Given the description of an element on the screen output the (x, y) to click on. 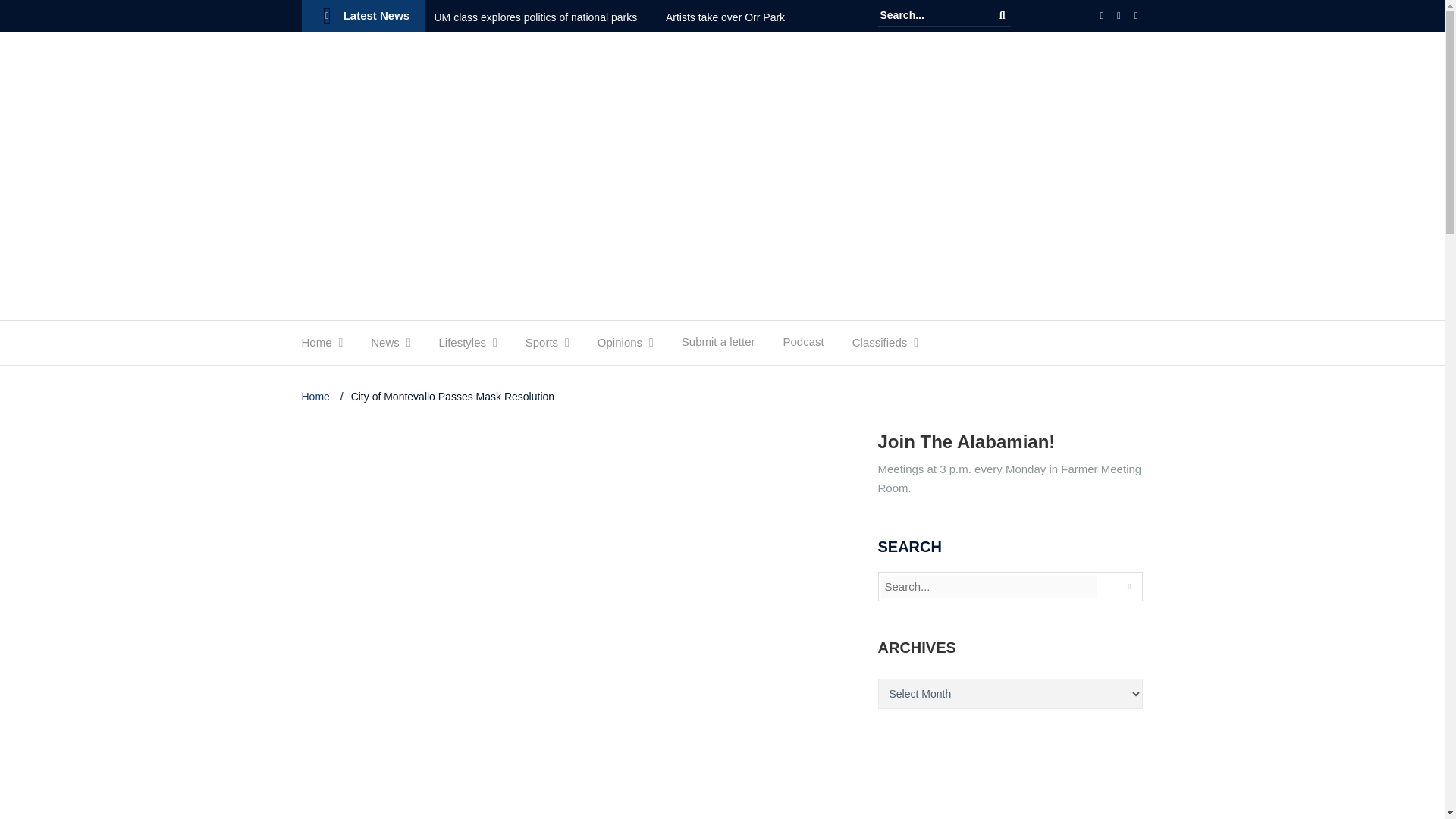
Home (316, 346)
Search   (1002, 14)
Artists take over Orr Park  (737, 17)
News (384, 346)
Classifieds (879, 346)
UM class explores politics of national parks  (547, 17)
Podcast (803, 345)
Sports (541, 346)
Lifestyles (462, 346)
Opinions (619, 346)
